Given the description of an element on the screen output the (x, y) to click on. 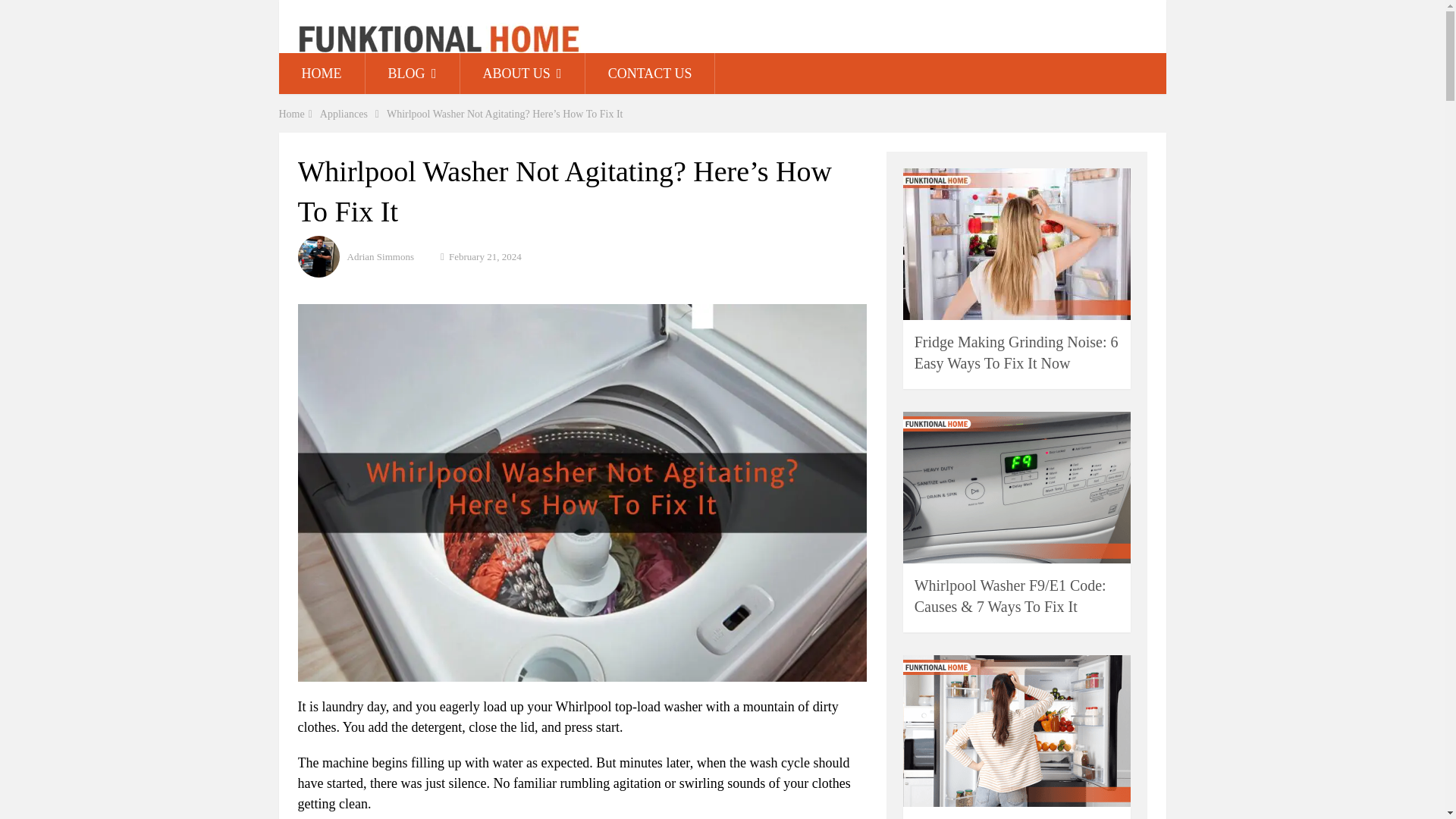
Appliances (344, 113)
BLOG (412, 73)
ABOUT US (521, 73)
Posts by Adrian Simmons (380, 256)
Home (291, 113)
CONTACT US (649, 73)
Adrian Simmons (380, 256)
HOME (322, 73)
